Given the description of an element on the screen output the (x, y) to click on. 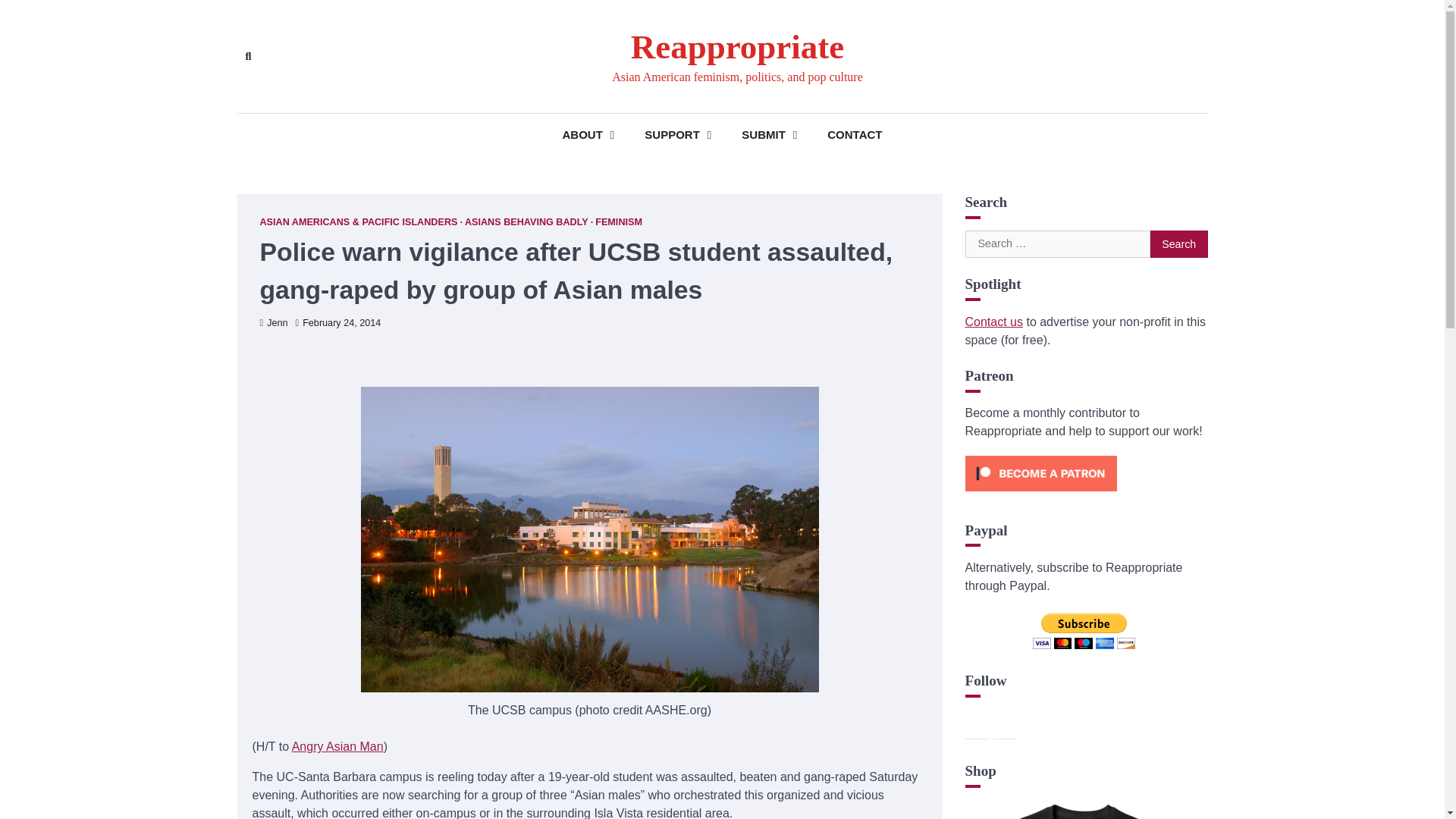
Search (1179, 243)
ABOUT (587, 135)
Jenn (272, 322)
SUPPORT (677, 135)
Search (1179, 243)
Reappropriate (737, 47)
CONTACT (854, 135)
FEMINISM (618, 222)
ASIANS BEHAVING BADLY (528, 222)
Angry Asian Man (338, 746)
